Given the description of an element on the screen output the (x, y) to click on. 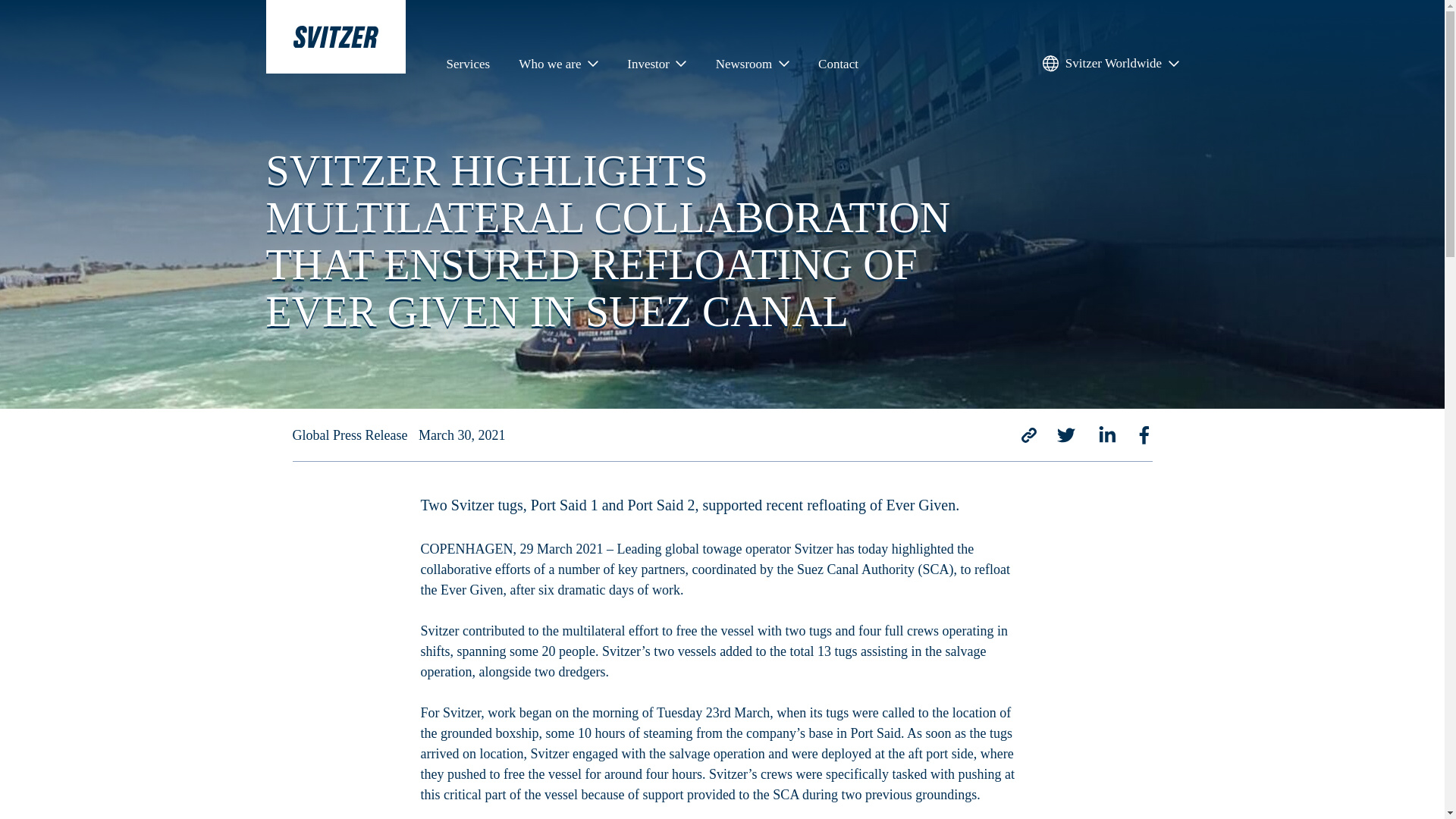
Investor (656, 66)
Investor (656, 66)
Services (467, 66)
Newsroom (752, 66)
Services (467, 66)
Who we are (558, 66)
Contact (838, 66)
Who we are (558, 66)
Svitzer Worldwide (1109, 66)
